Given the description of an element on the screen output the (x, y) to click on. 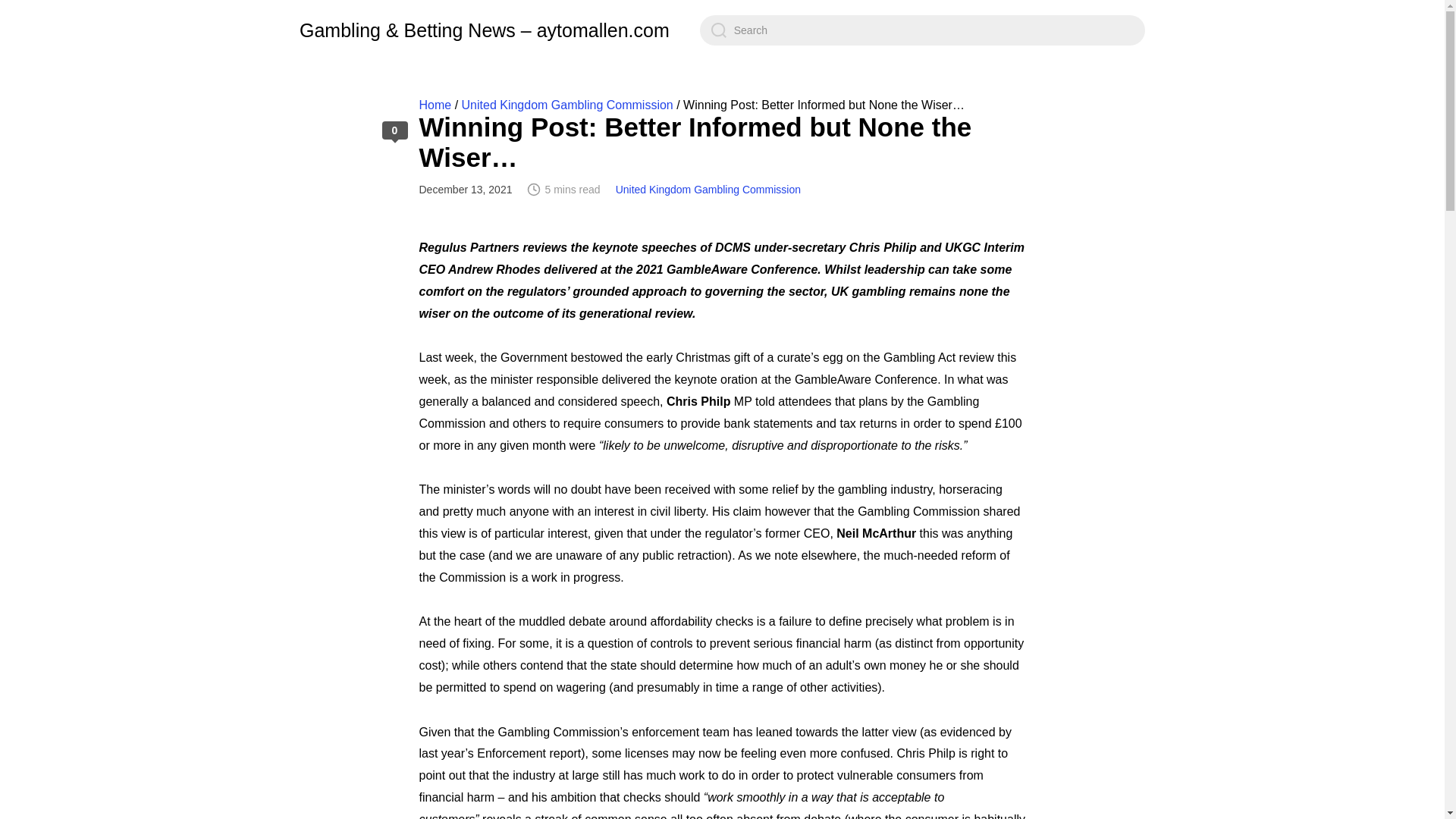
0 (394, 130)
United Kingdom Gambling Commission (566, 104)
United Kingdom Gambling Commission (707, 189)
Home (435, 104)
